Given the description of an element on the screen output the (x, y) to click on. 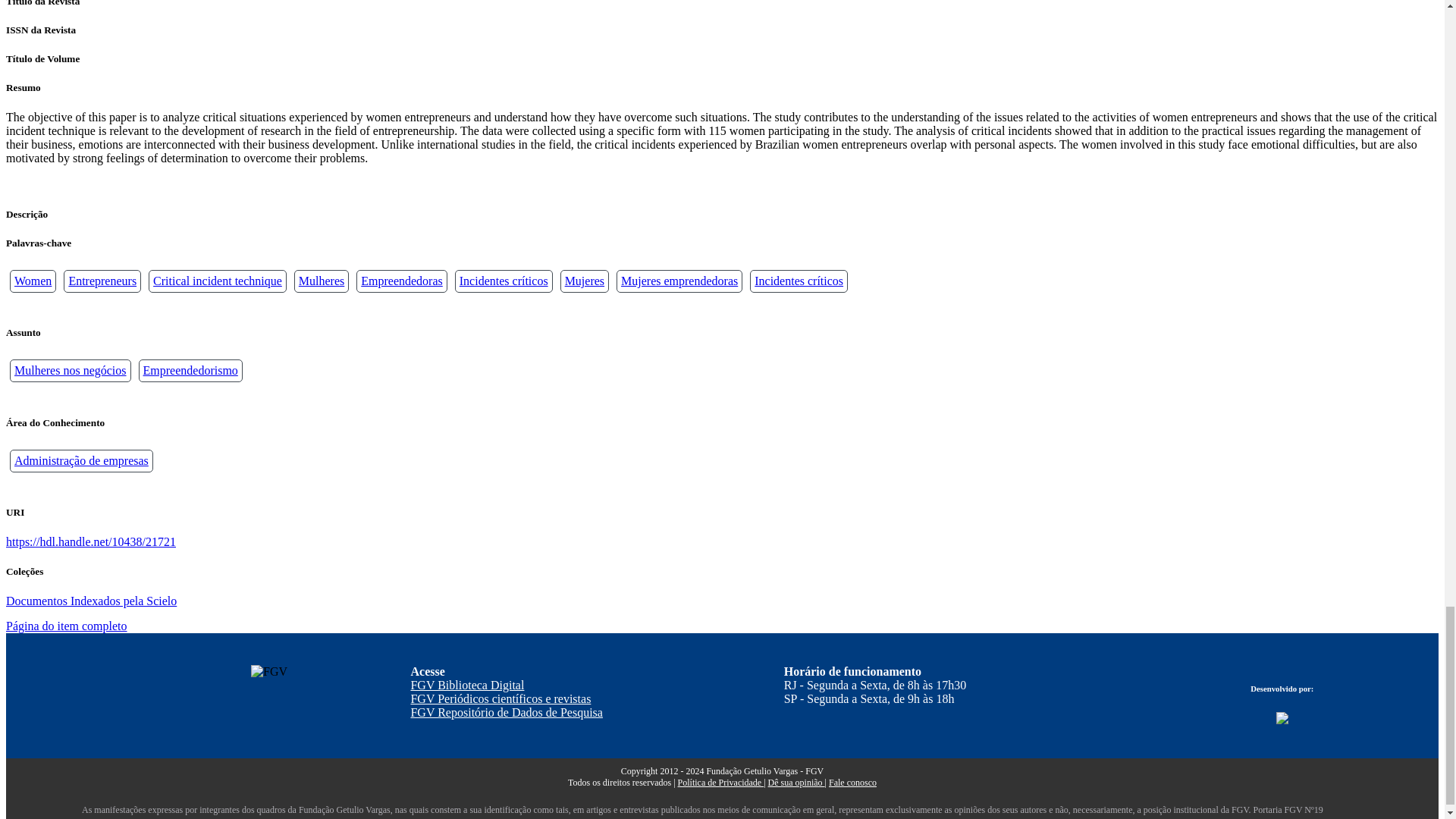
Entrepreneurs (102, 280)
Empreendedoras (401, 280)
Mulheres (320, 280)
Critical incident technique (217, 280)
Women (32, 280)
